Given the description of an element on the screen output the (x, y) to click on. 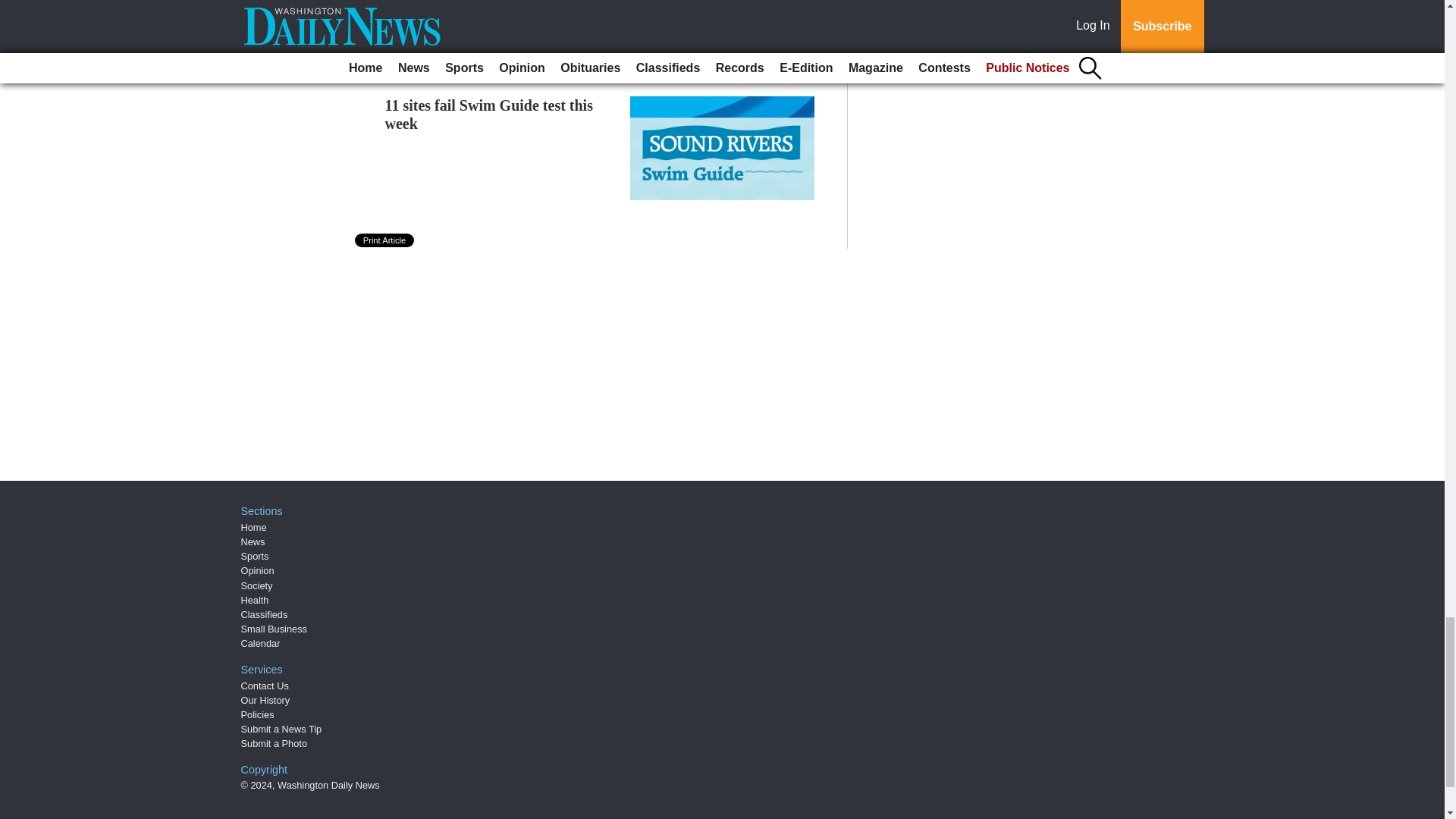
11 sites fail Swim Guide test this week (488, 114)
Print Article (384, 240)
11 sites fail Swim Guide test this week (488, 114)
